Given the description of an element on the screen output the (x, y) to click on. 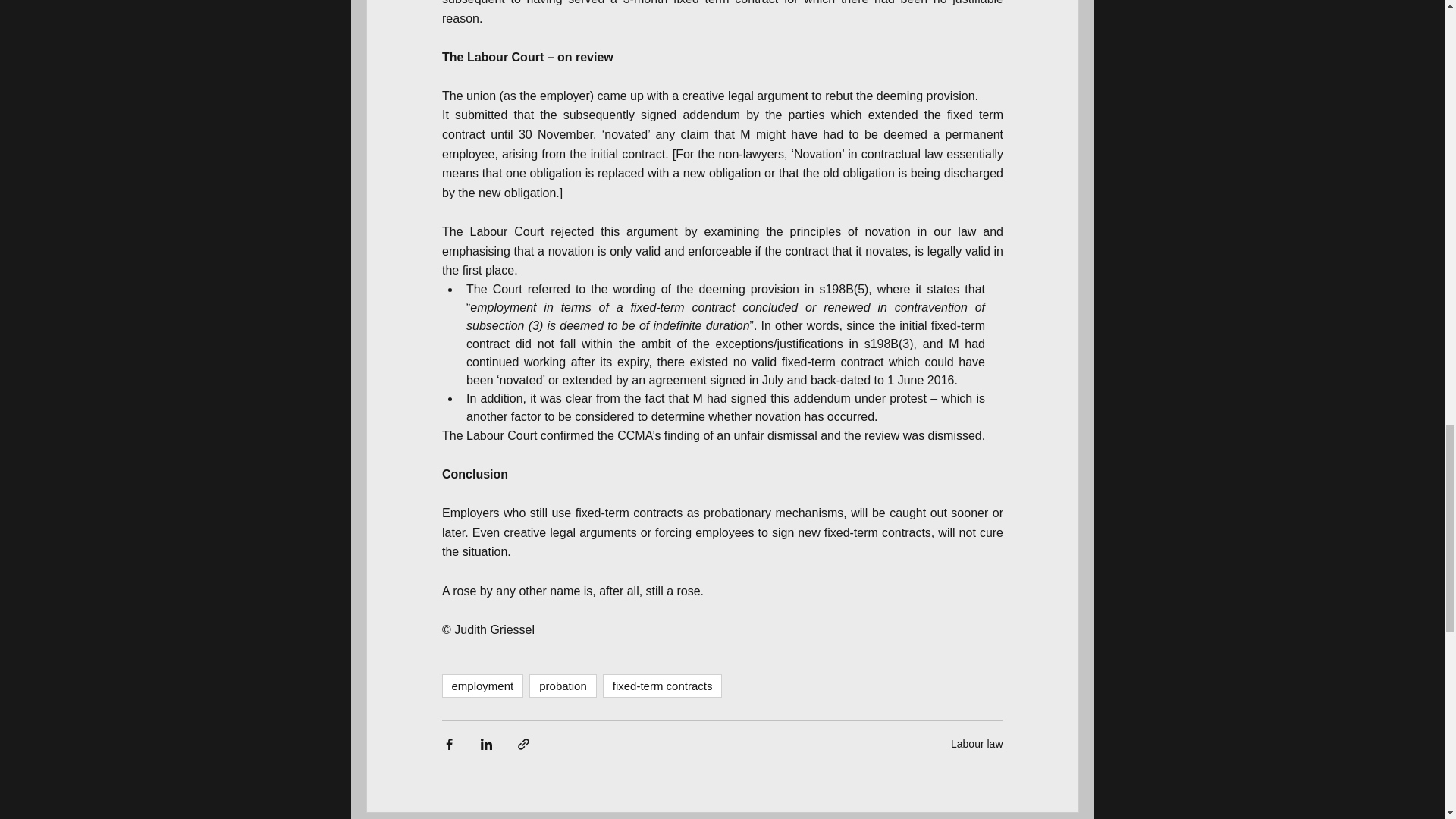
probation (562, 685)
Labour law (976, 743)
fixed-term contracts (662, 685)
employment (481, 685)
